Given the description of an element on the screen output the (x, y) to click on. 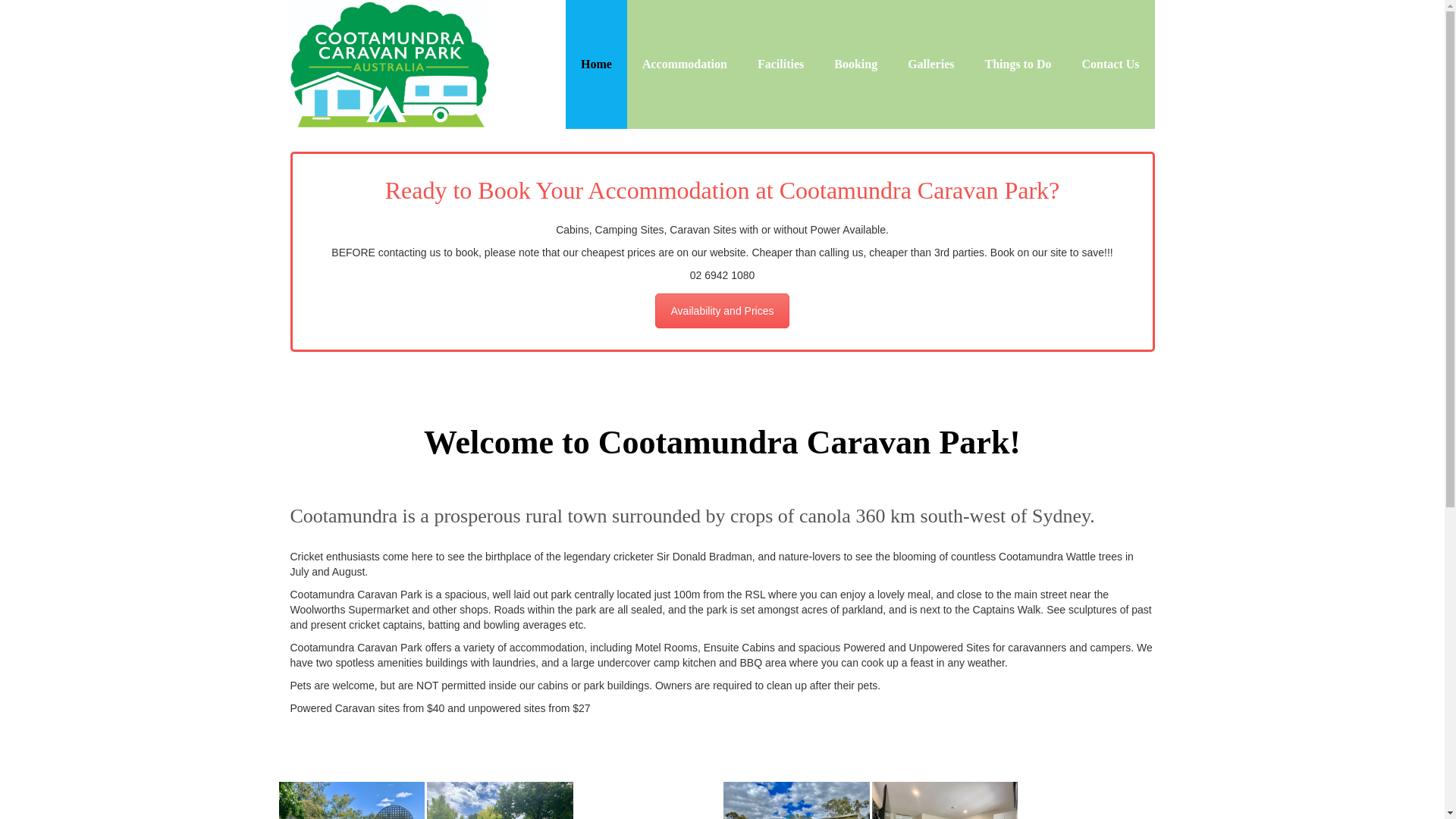
Booking Element type: text (855, 64)
Facilities Element type: text (780, 64)
Home Element type: text (596, 64)
Contact Us Element type: text (1110, 64)
Galleries Element type: text (930, 64)
Things to Do Element type: text (1017, 64)
Availability and Prices Element type: text (722, 310)
Accommodation Element type: text (684, 64)
